Given the description of an element on the screen output the (x, y) to click on. 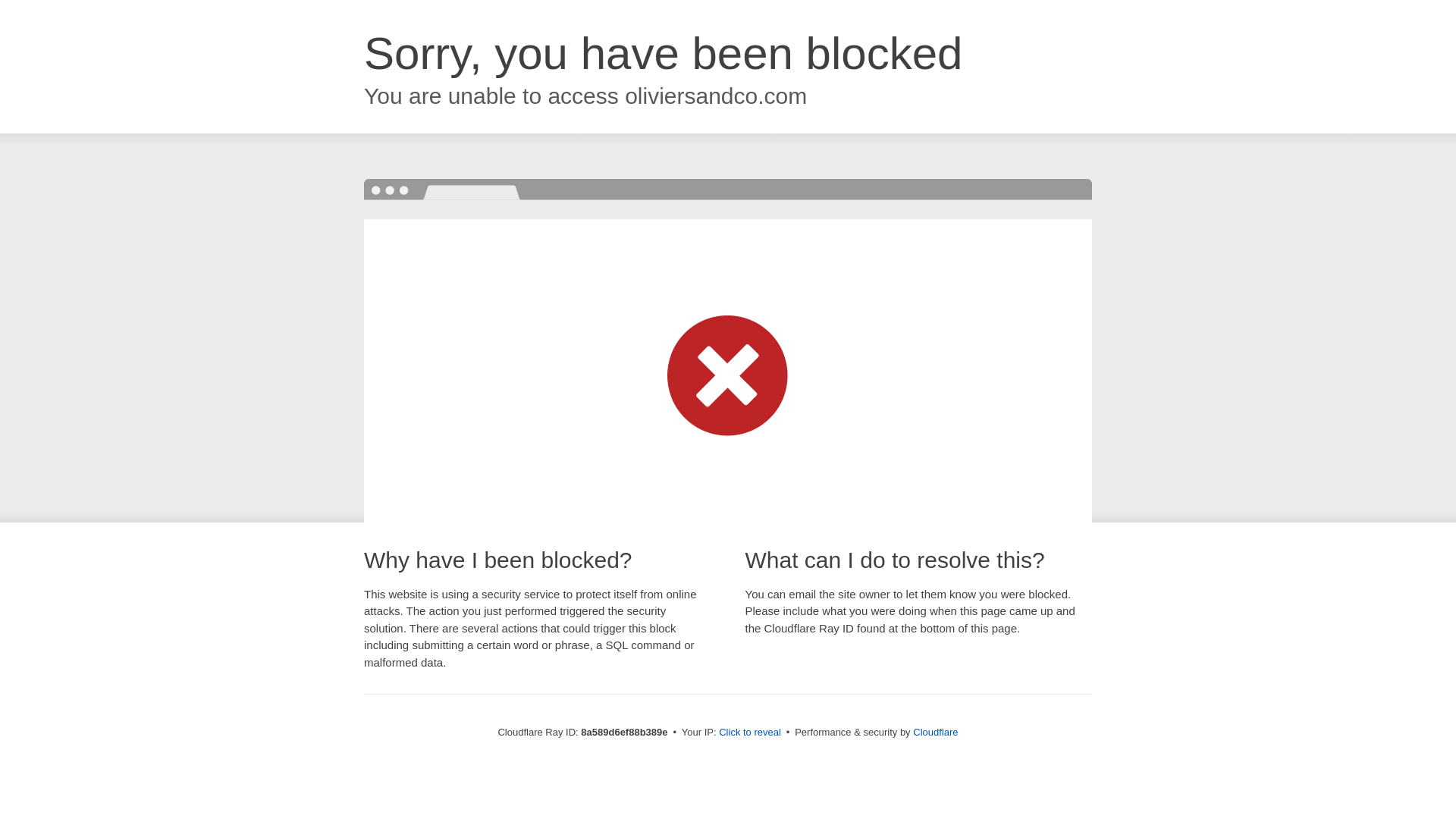
Click to reveal (749, 732)
Cloudflare (935, 731)
